Given the description of an element on the screen output the (x, y) to click on. 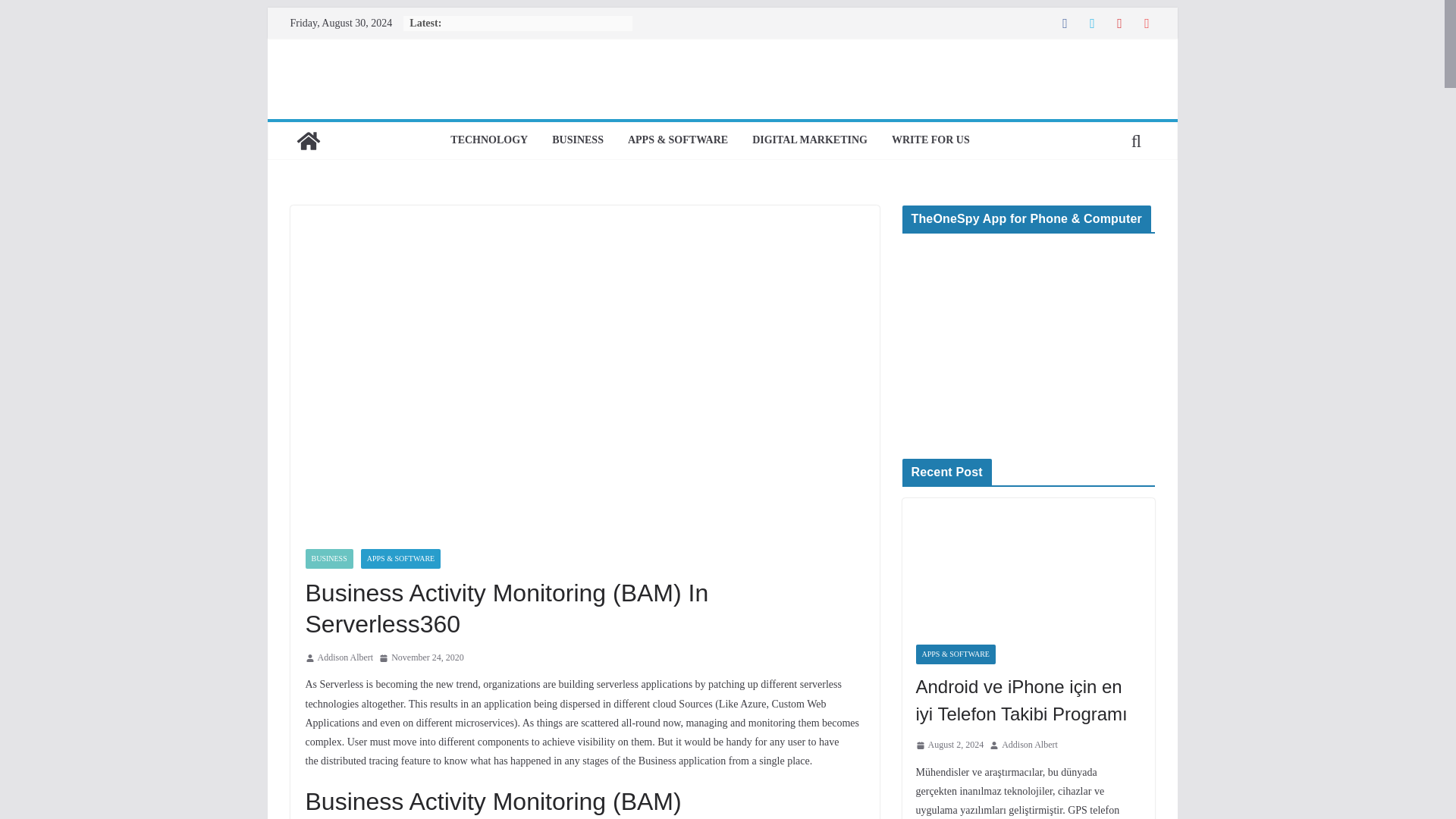
7:51 am (421, 658)
Addison Albert (344, 658)
TECHNOLOGY (488, 140)
BUSINESS (328, 558)
WRITE FOR US (930, 140)
Addison Albert (344, 658)
November 24, 2020 (421, 658)
TechScrolling (307, 140)
BUSINESS (577, 140)
